Given the description of an element on the screen output the (x, y) to click on. 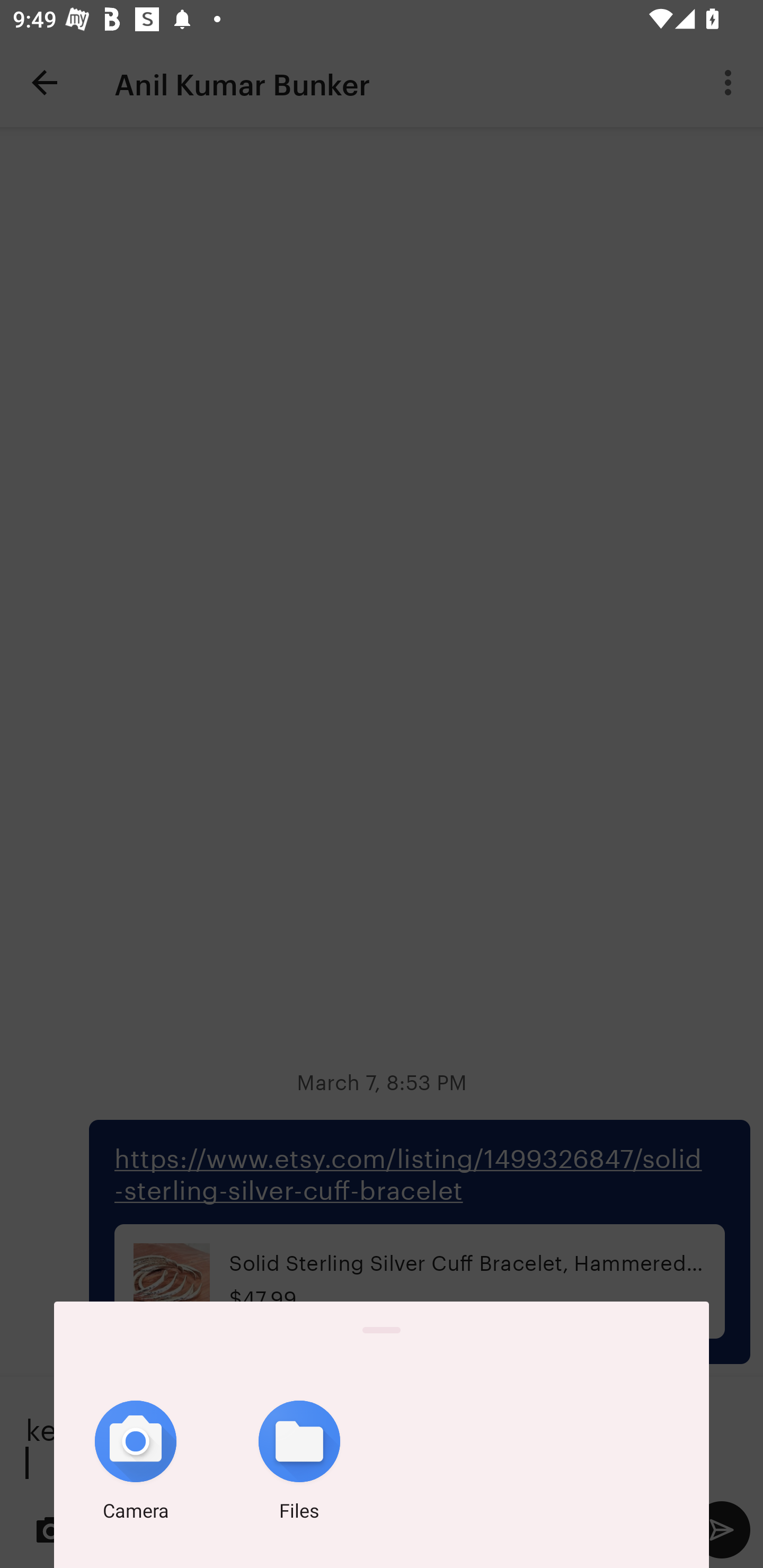
Camera (135, 1463)
Files (299, 1463)
